Given the description of an element on the screen output the (x, y) to click on. 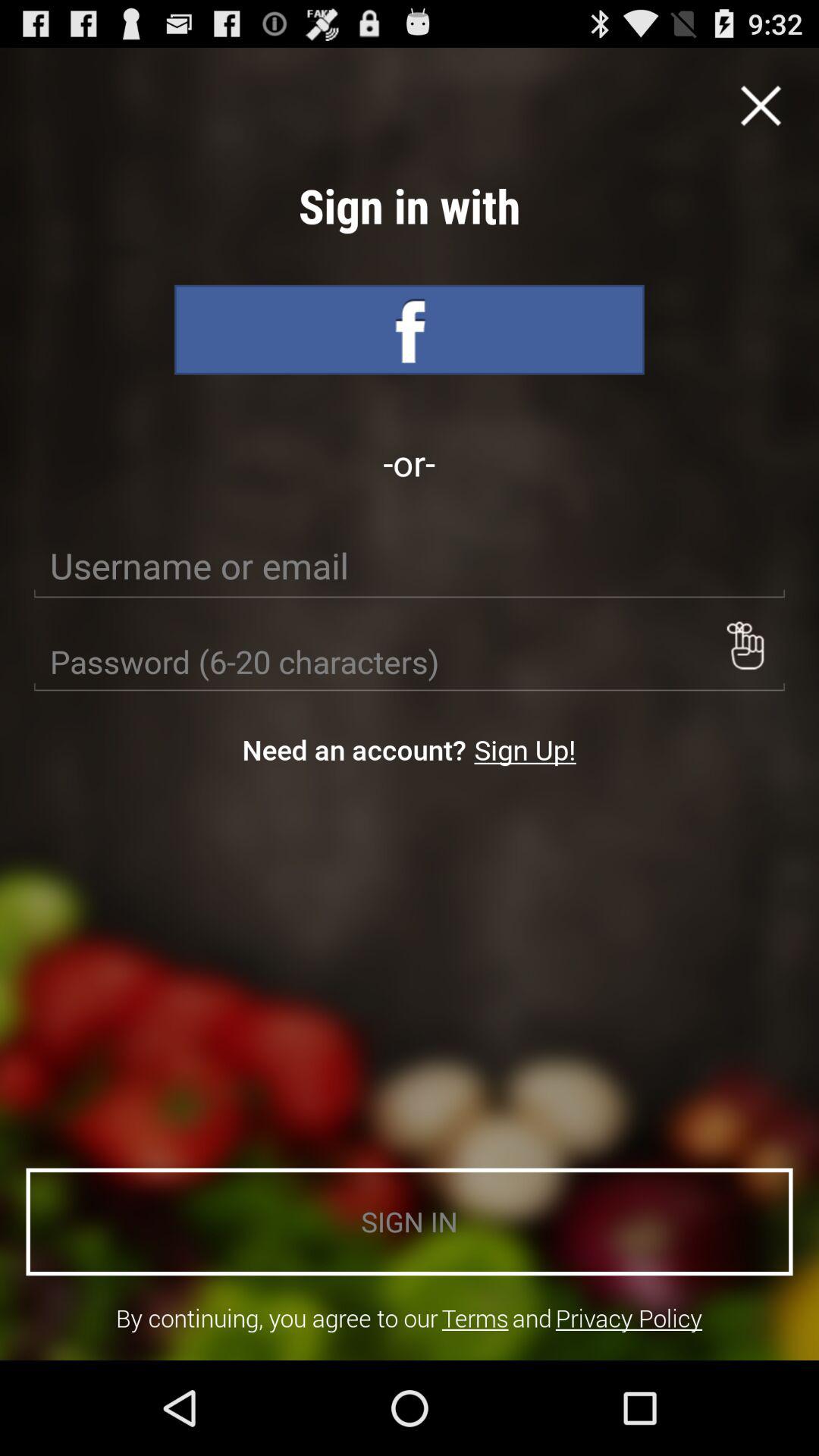
enter usename (409, 566)
